Given the description of an element on the screen output the (x, y) to click on. 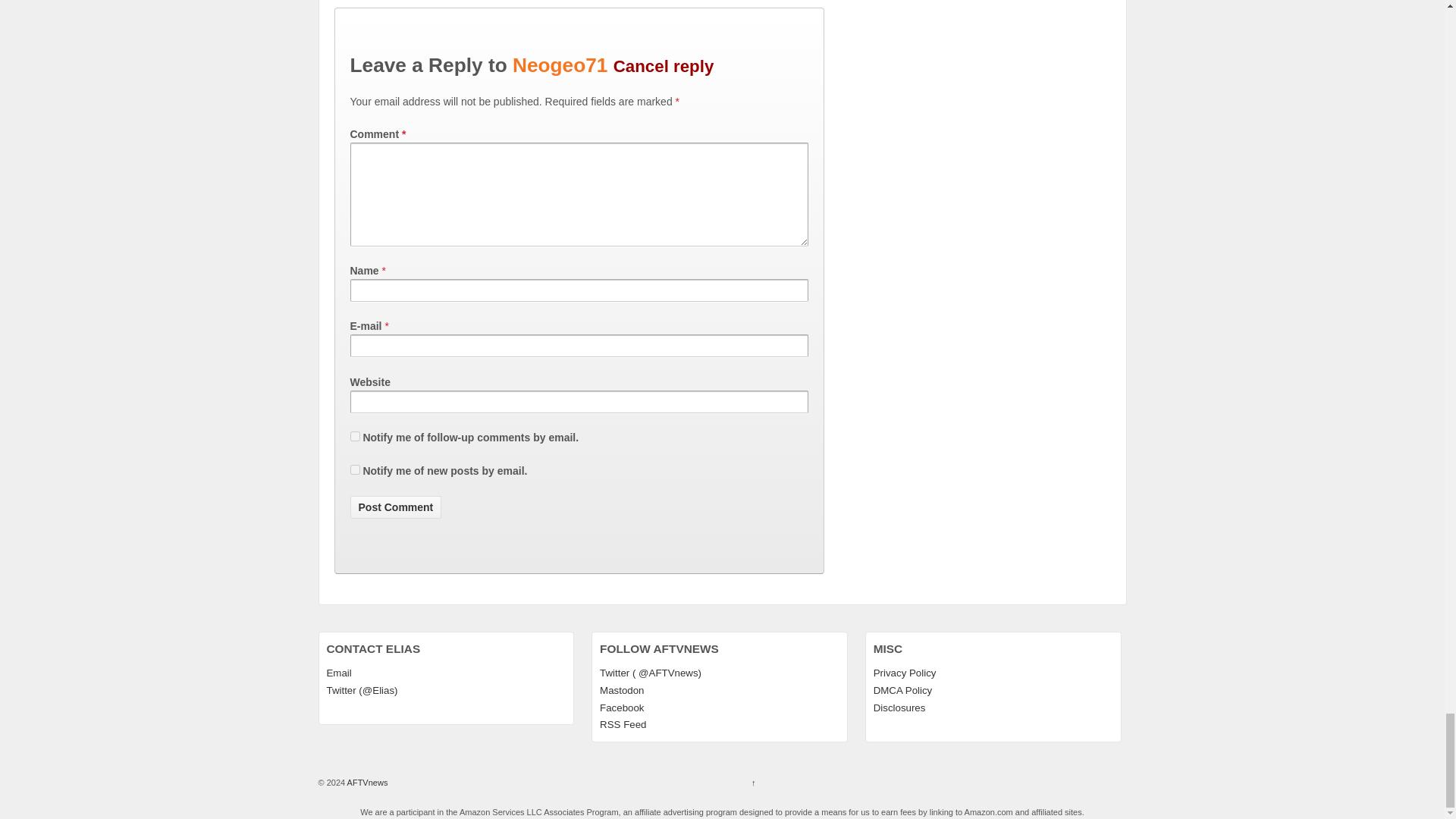
subscribe (354, 470)
subscribe (354, 436)
Post Comment (396, 507)
